Given the description of an element on the screen output the (x, y) to click on. 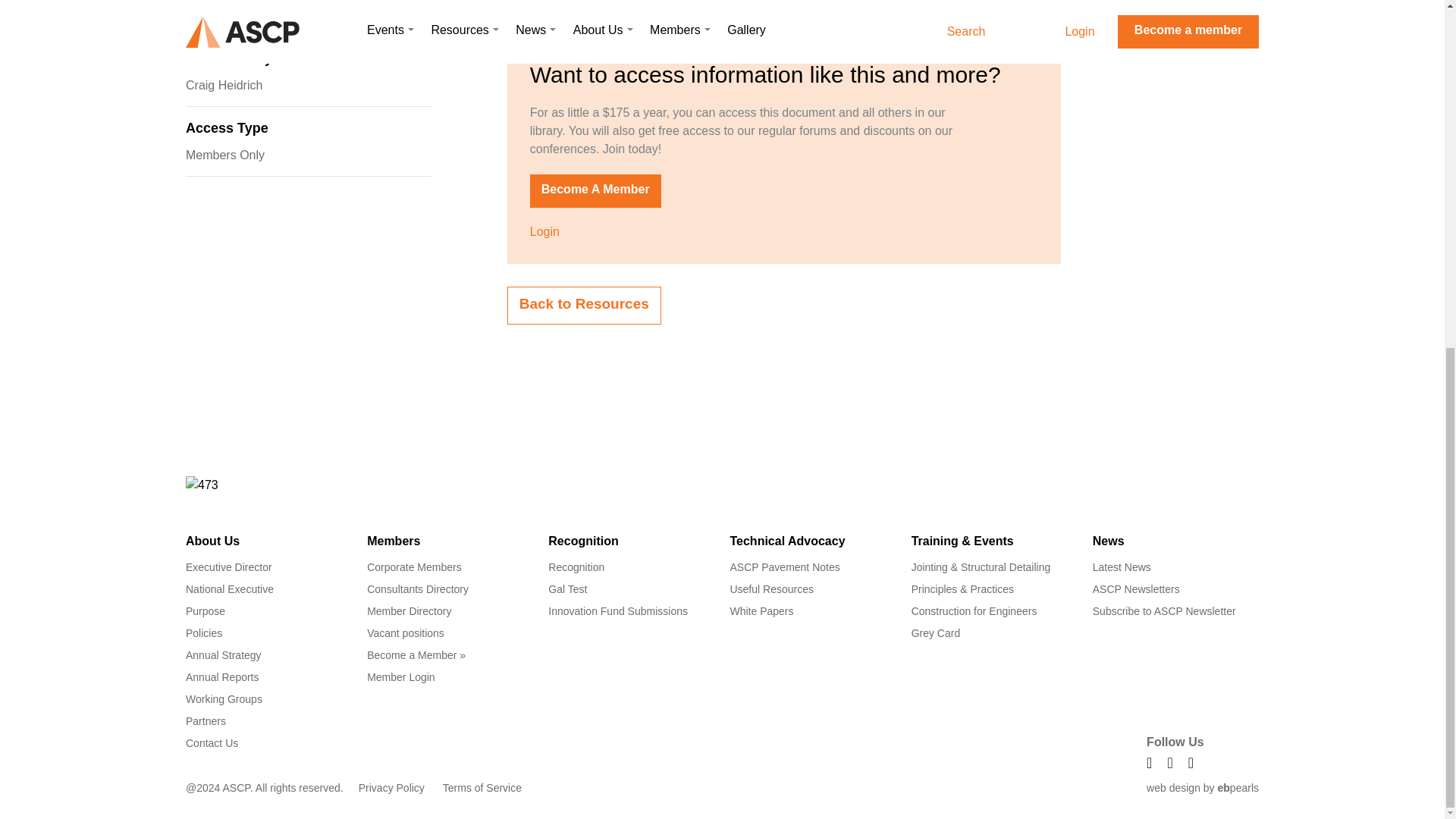
Become A Member (595, 191)
Login (544, 231)
